Given the description of an element on the screen output the (x, y) to click on. 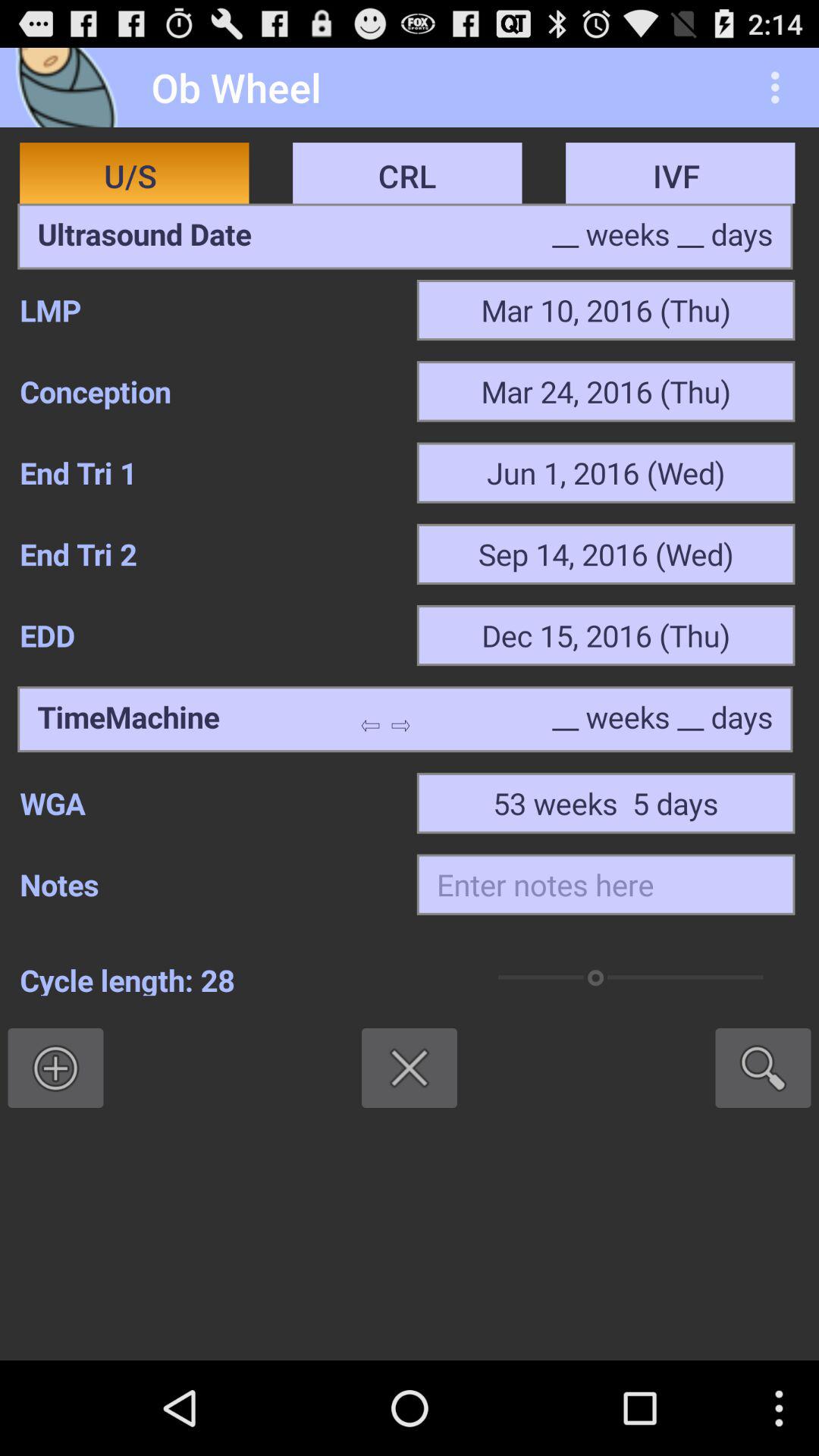
the date bar (144, 236)
